Given the description of an element on the screen output the (x, y) to click on. 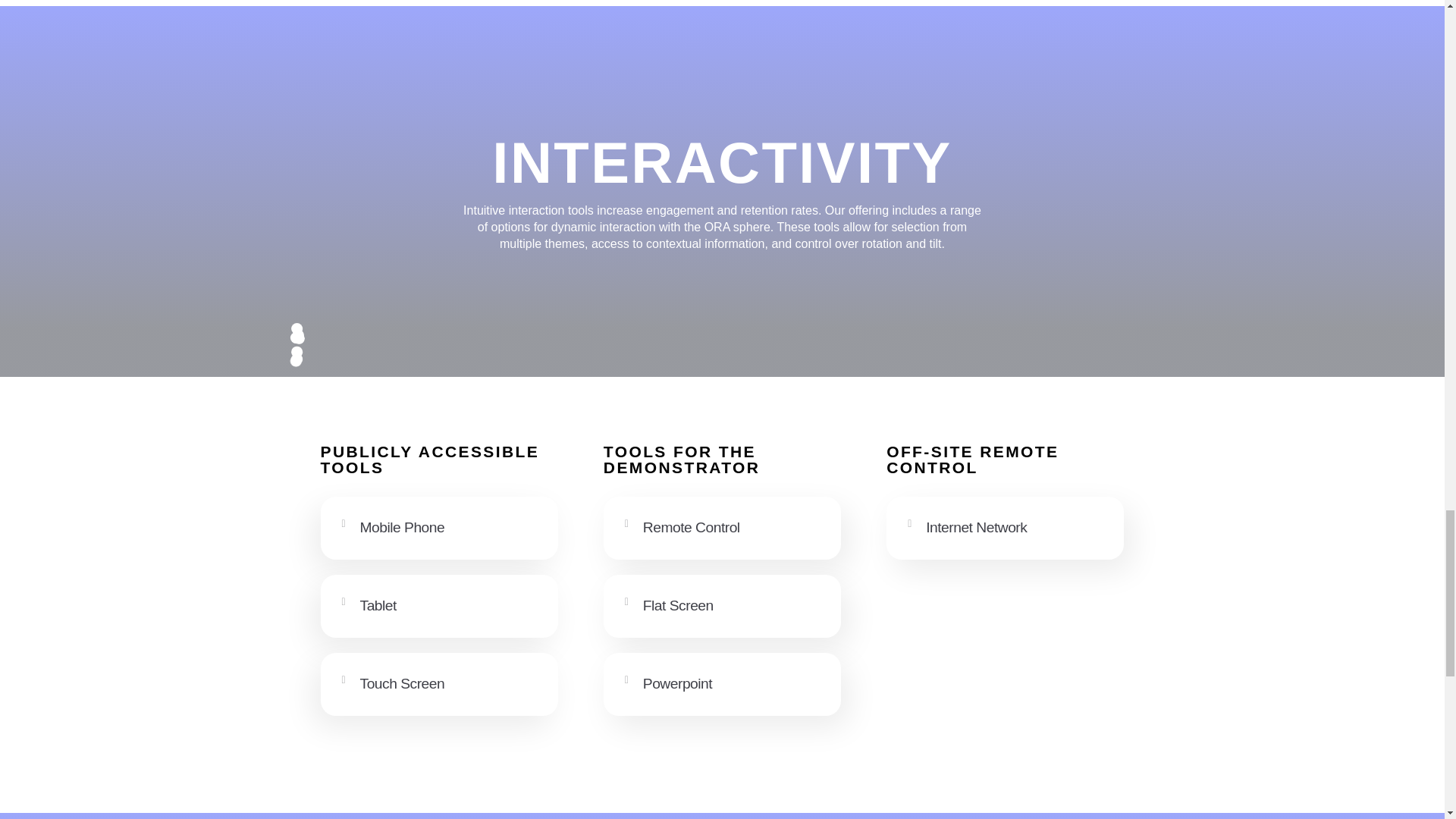
Flat Screen (678, 605)
Mobile Phone (401, 527)
Tablet (377, 605)
Remote Control (691, 527)
Touch Screen (401, 683)
